Given the description of an element on the screen output the (x, y) to click on. 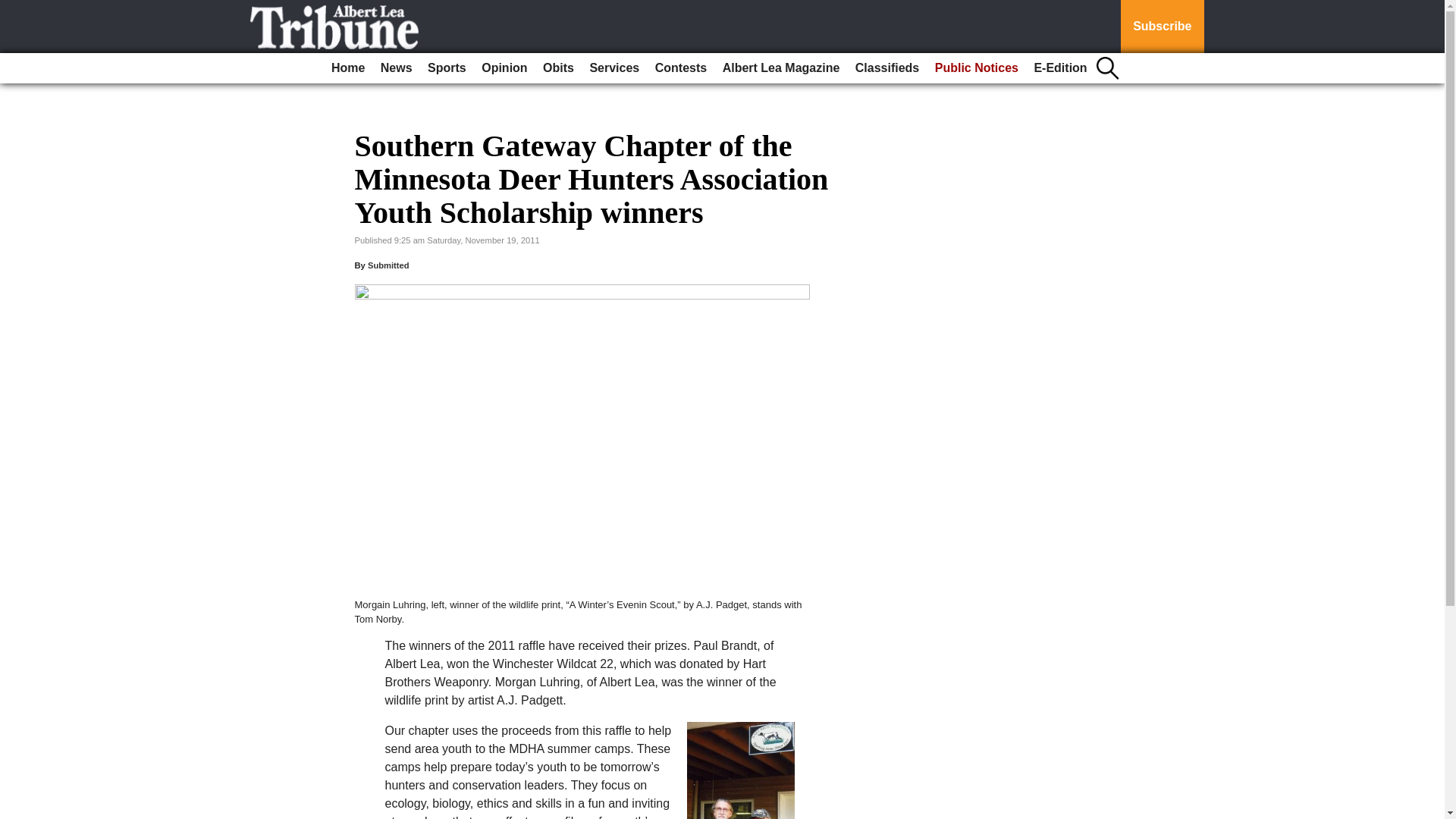
Sports (446, 68)
1120.print.winner.2 (740, 770)
Subscribe (1162, 26)
Obits (558, 68)
Opinion (504, 68)
News (396, 68)
Home (347, 68)
Services (614, 68)
